Given the description of an element on the screen output the (x, y) to click on. 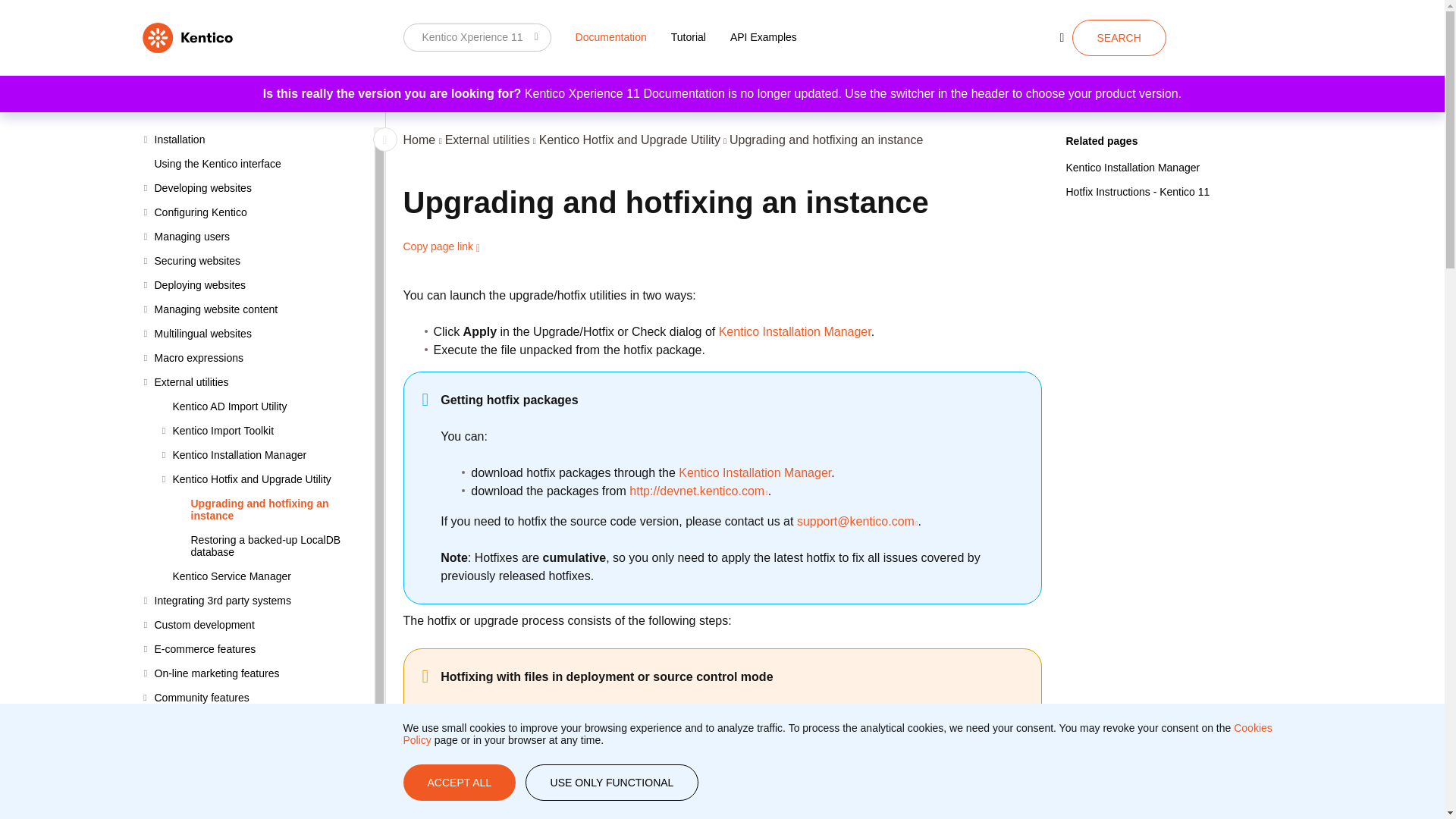
Kentico Xperience 11 (477, 36)
Tutorial (688, 37)
Which Kentico Xperience version do you have? (477, 36)
Installation (257, 139)
Documentation (611, 37)
Documentation (611, 37)
SEARCH (1118, 37)
API Examples (763, 37)
Tutorial (688, 37)
API Examples (763, 37)
